Given the description of an element on the screen output the (x, y) to click on. 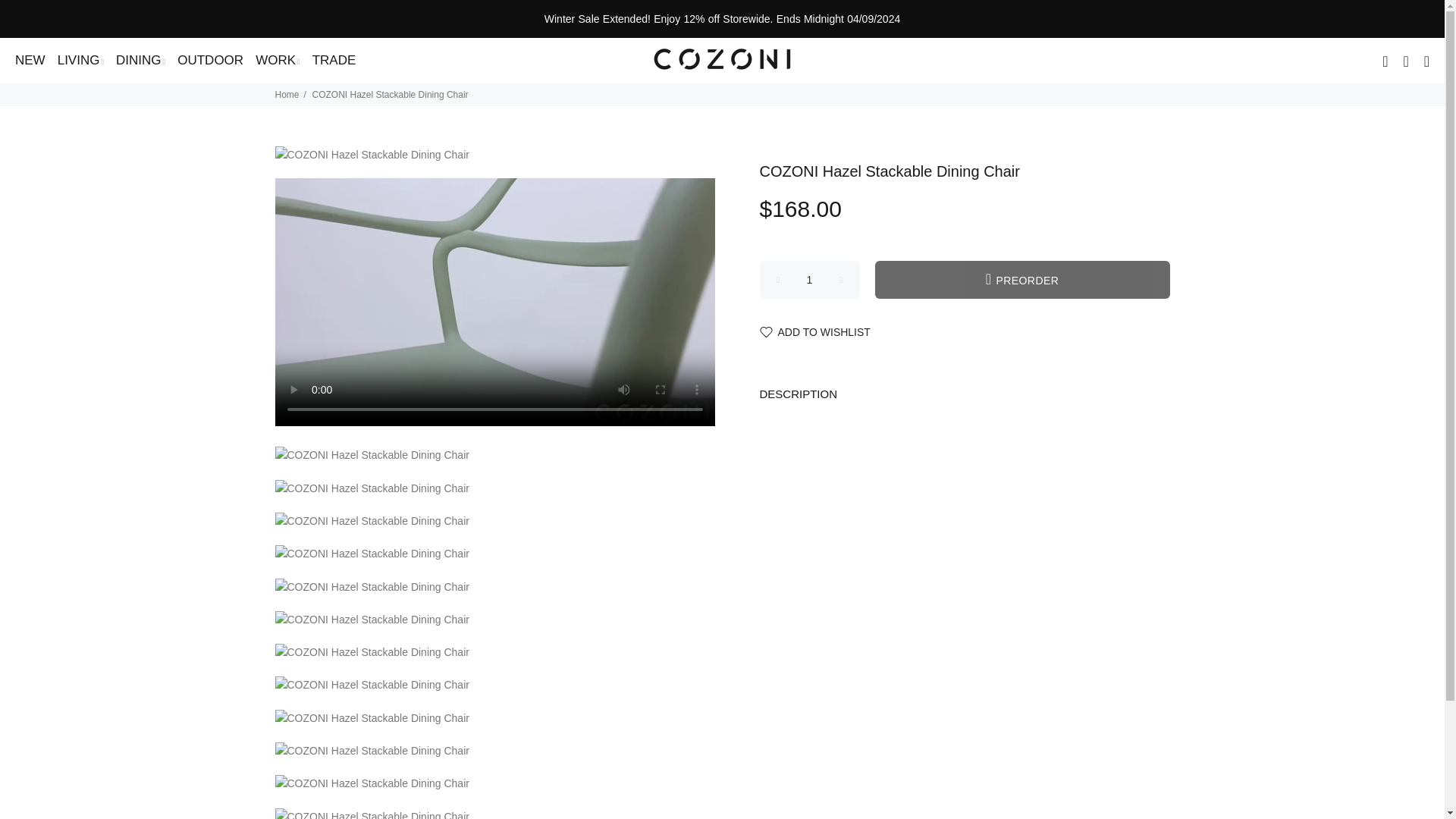
LIVING (80, 60)
NEW (27, 60)
1 (810, 279)
